Given the description of an element on the screen output the (x, y) to click on. 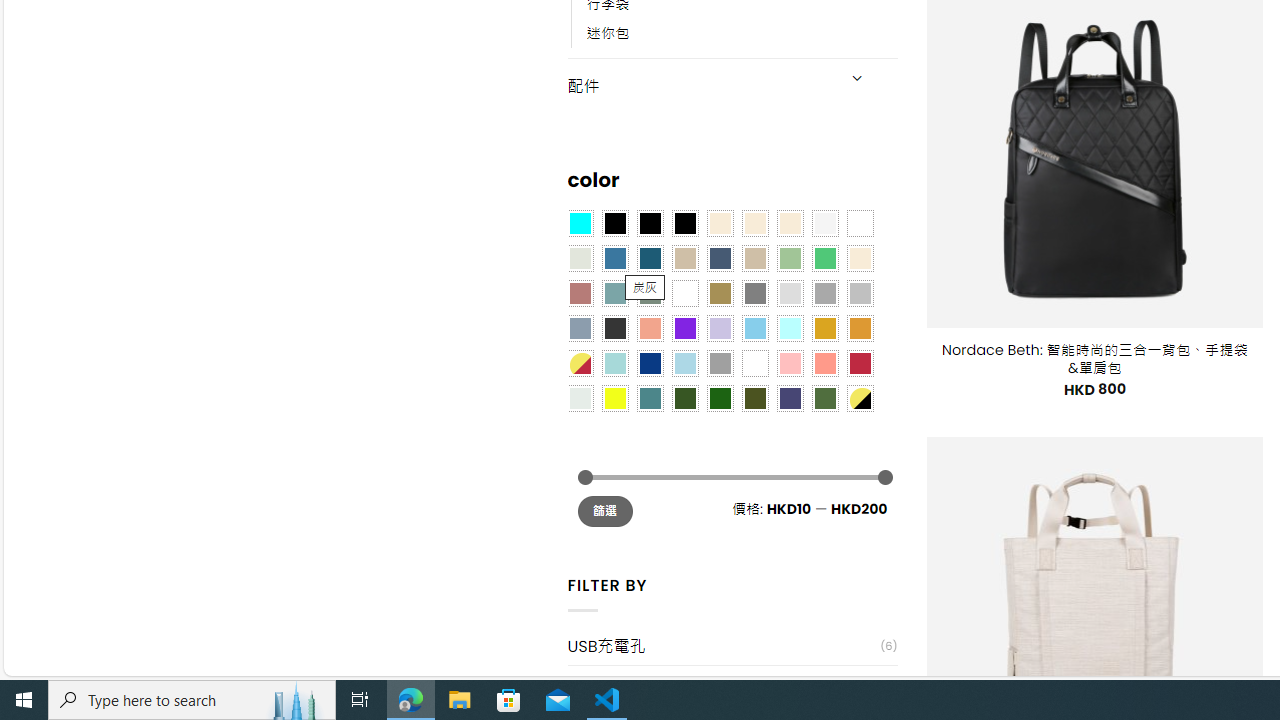
Cream (789, 223)
